Given the description of an element on the screen output the (x, y) to click on. 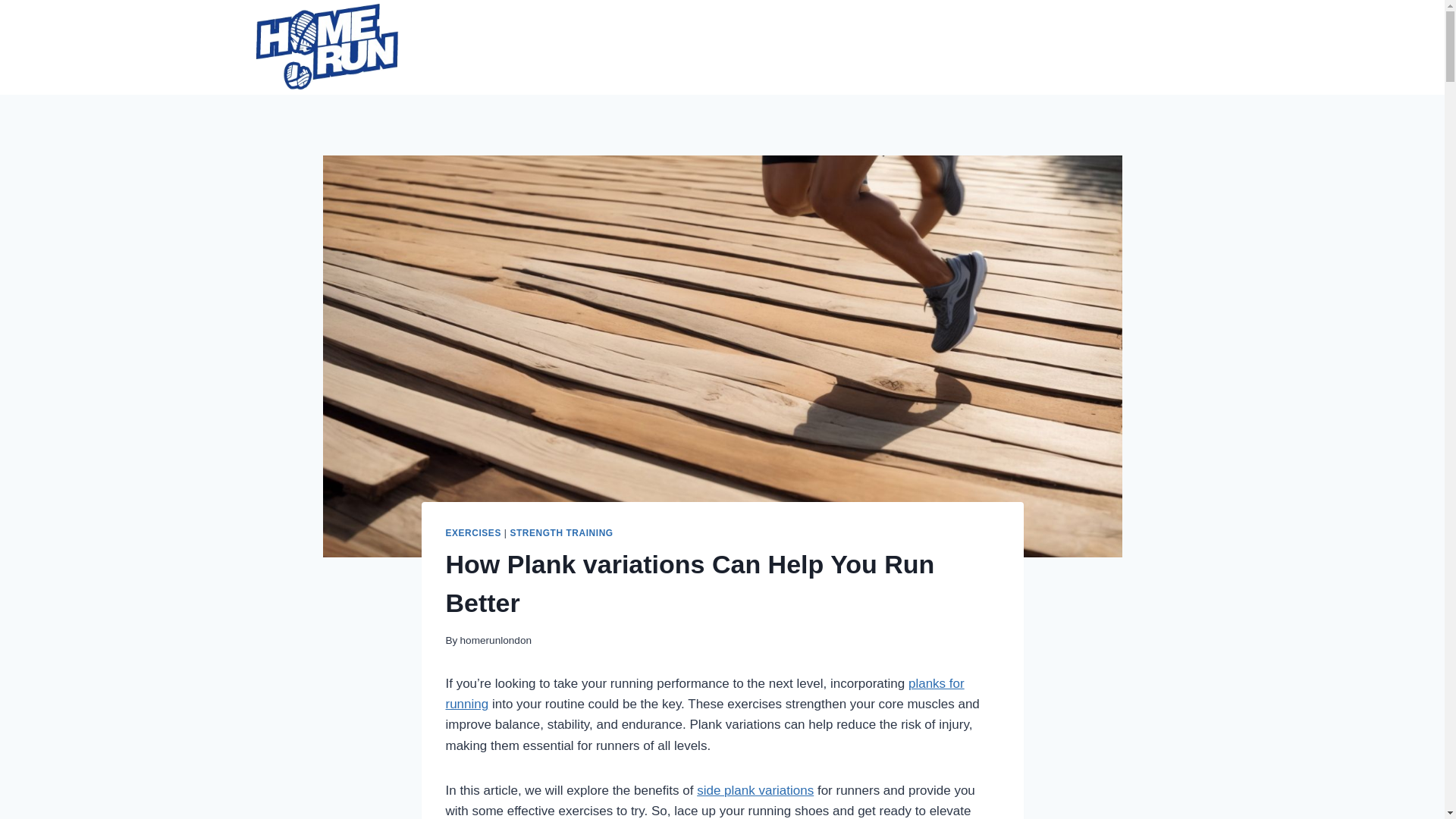
side plank variations (755, 789)
EXERCISES (472, 532)
homerunlondon (495, 640)
planks for running (704, 693)
STRENGTH TRAINING (560, 532)
